Given the description of an element on the screen output the (x, y) to click on. 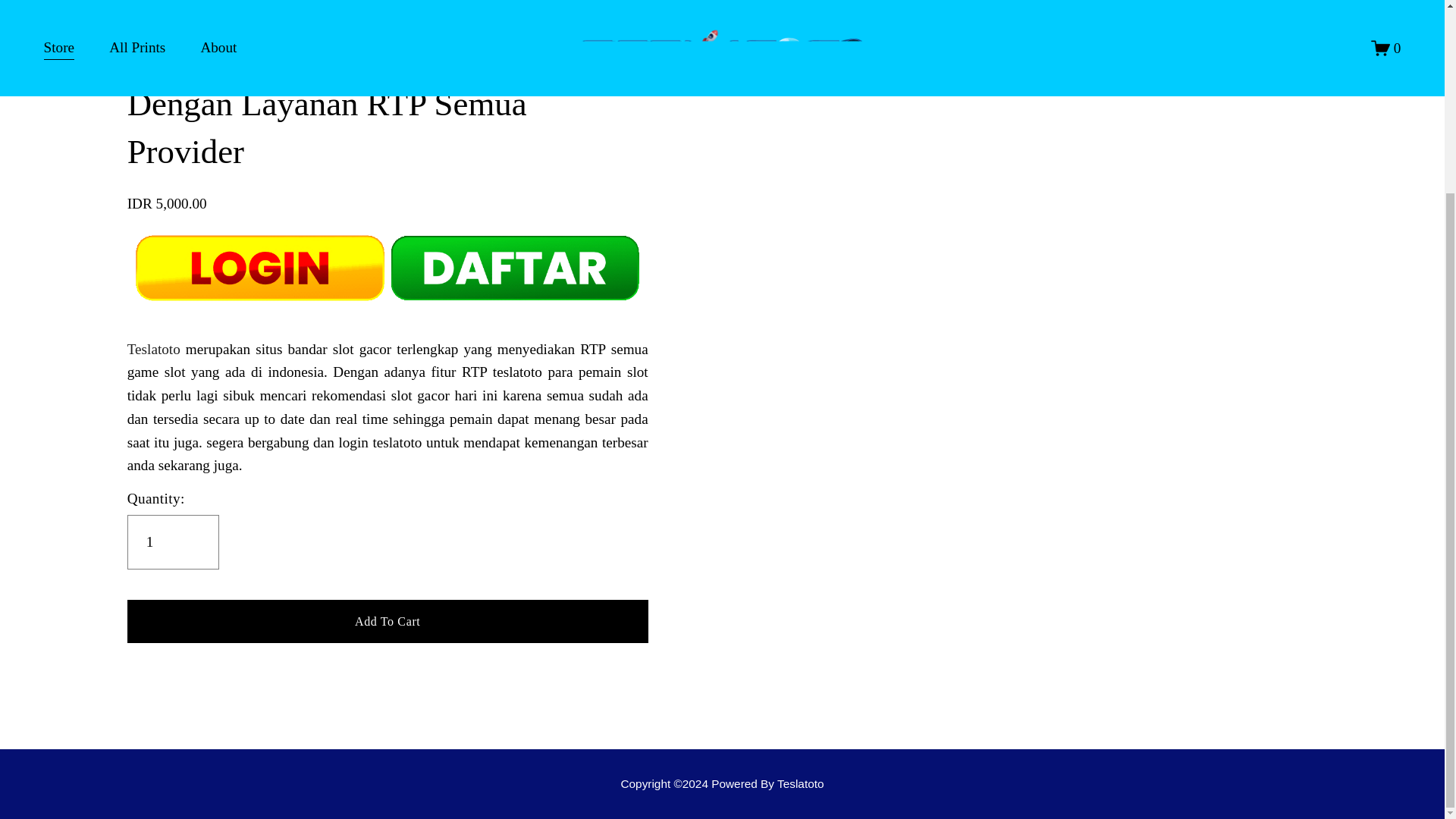
Teslatoto (154, 349)
1 (173, 542)
Add To Cart (387, 620)
Sabung Ayam Online (722, 783)
